Given the description of an element on the screen output the (x, y) to click on. 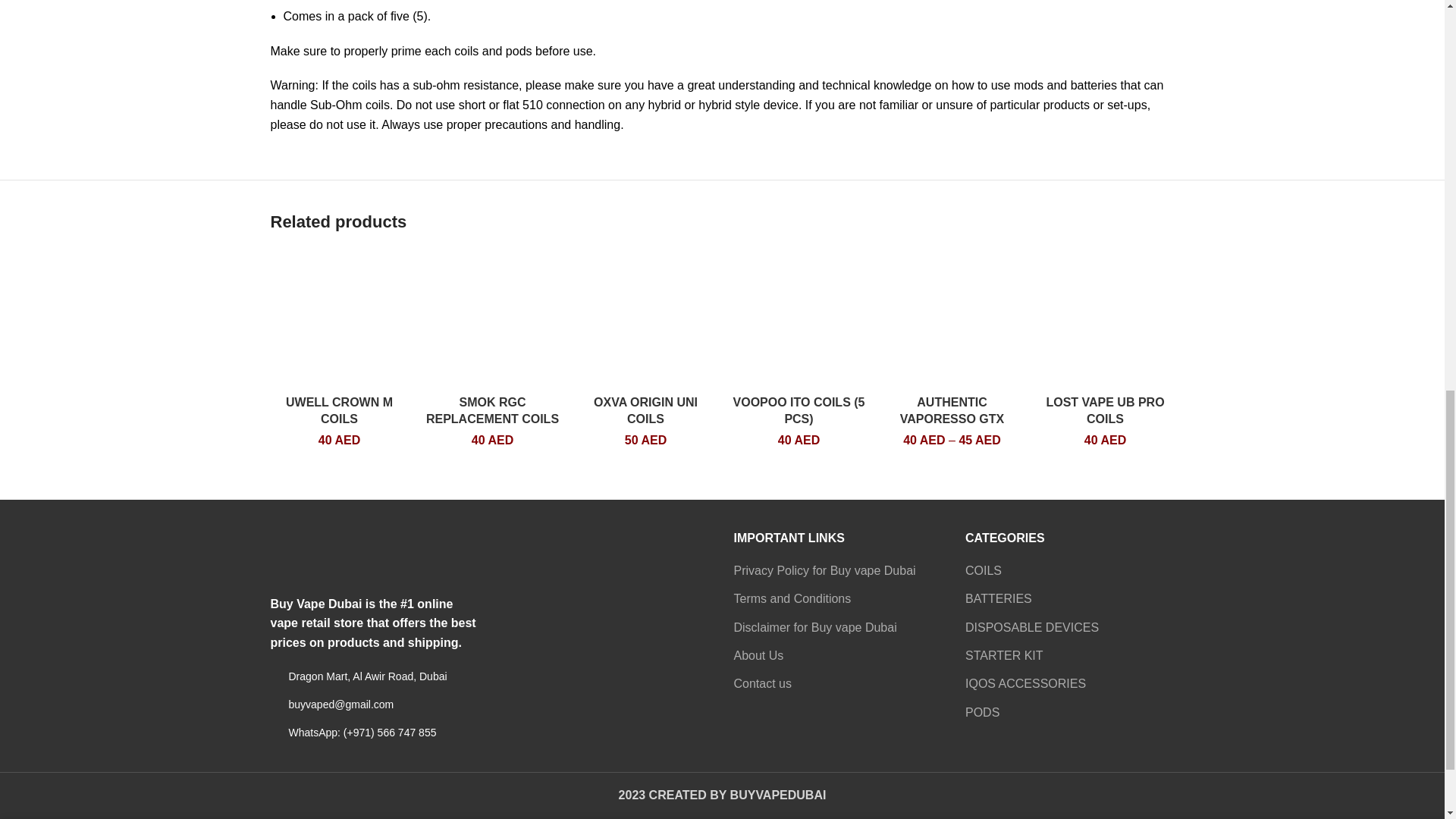
wd-phone-light (275, 732)
wd-envelope-light (275, 704)
wd-cursor-light (275, 675)
